Given the description of an element on the screen output the (x, y) to click on. 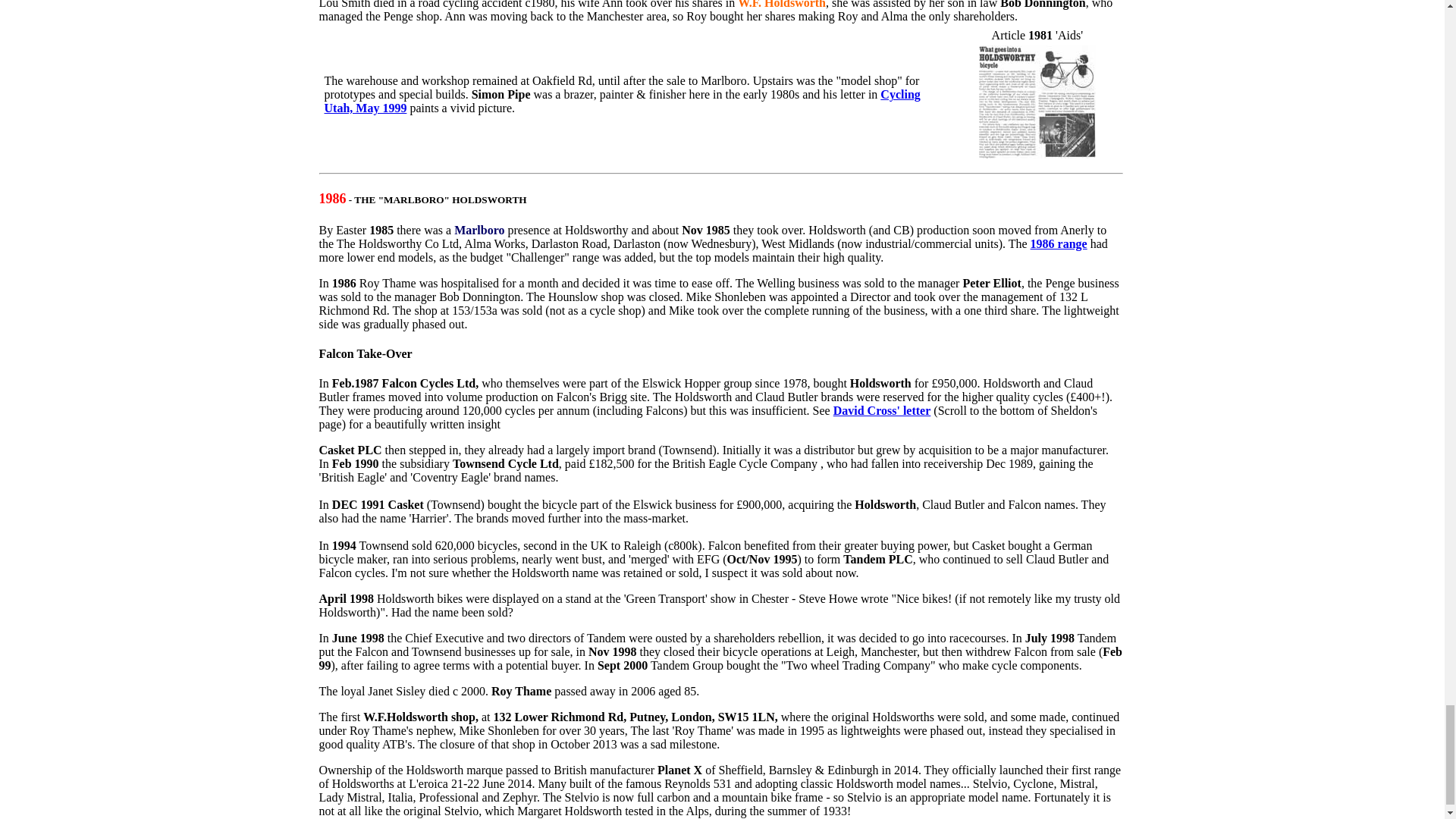
David Cross' letter (881, 410)
Cycling Utah, May 1999 (622, 100)
1986 range (1058, 243)
